Given the description of an element on the screen output the (x, y) to click on. 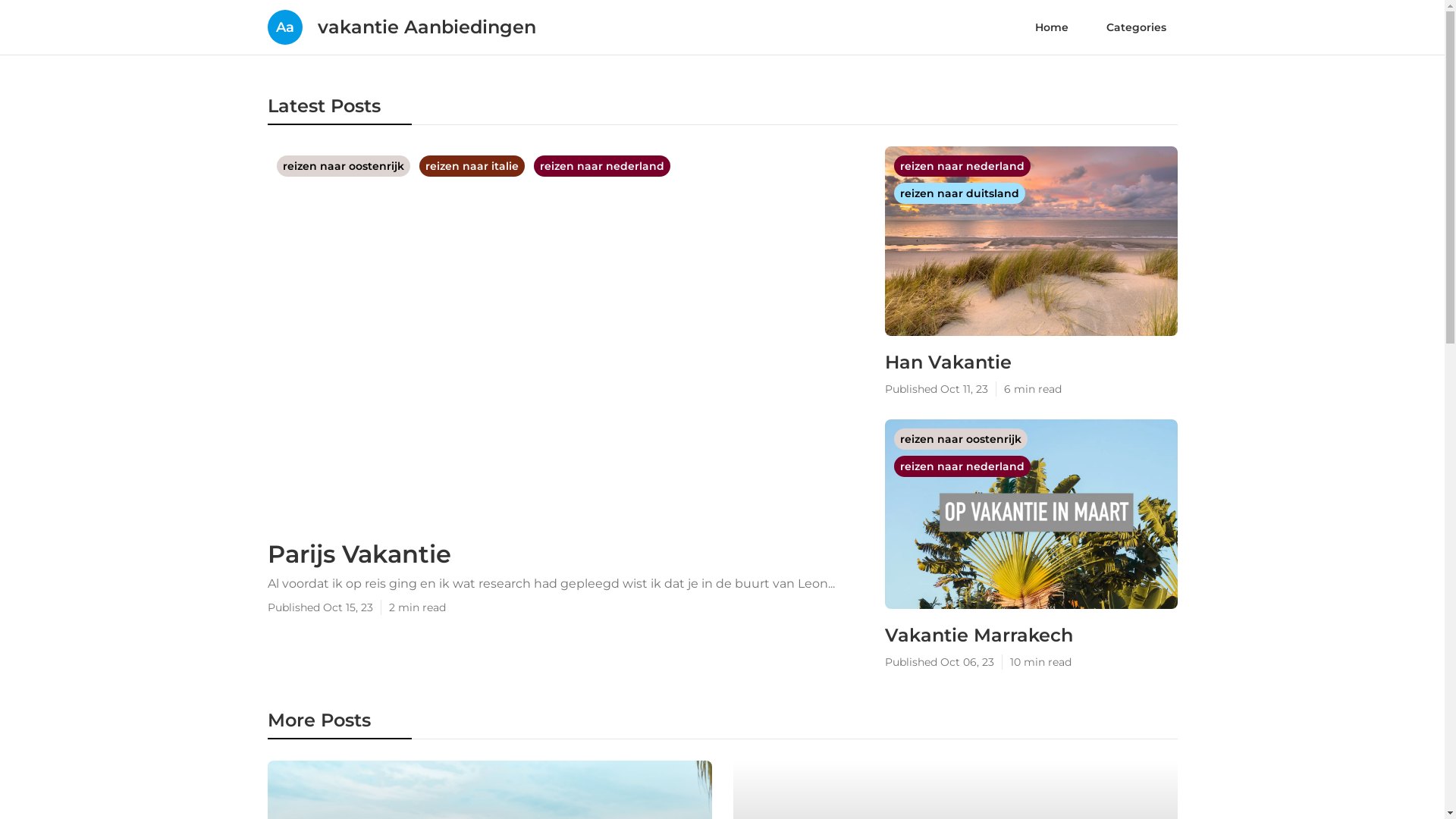
reizen naar oostenrijk Element type: text (344, 165)
Han Vakantie Element type: text (1030, 362)
reizen naar nederland Element type: text (601, 165)
Home Element type: text (1051, 26)
Categories Element type: text (1136, 26)
reizen naar nederland Element type: text (961, 466)
reizen naar nederland Element type: text (961, 165)
reizen naar duitsland Element type: text (958, 193)
reizen naar italie Element type: text (472, 165)
Parijs Vakantie Element type: text (564, 553)
Vakantie Marrakech Element type: text (1030, 635)
reizen naar oostenrijk Element type: text (959, 438)
